Given the description of an element on the screen output the (x, y) to click on. 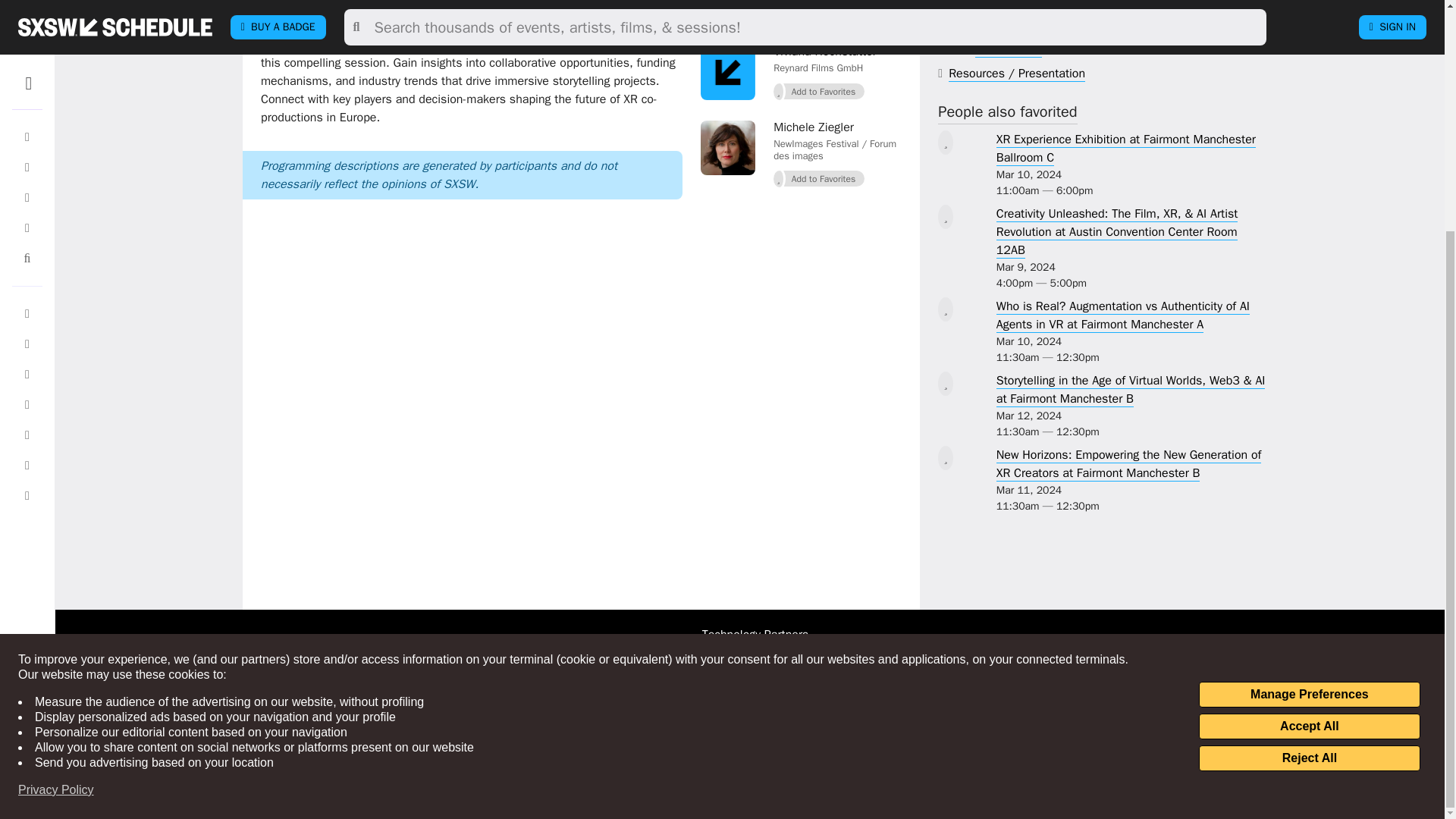
Privacy Policy (55, 477)
Sign In to add to your favorites. (818, 178)
Reject All (1309, 445)
Sign In to add to your favorites. (818, 15)
Accept All (1309, 413)
Sign In to add to your favorites. (818, 91)
Meet European XR Co-Production Initiatives, Mar 10, 2024 (471, 9)
Manage Preferences (1309, 381)
